Given the description of an element on the screen output the (x, y) to click on. 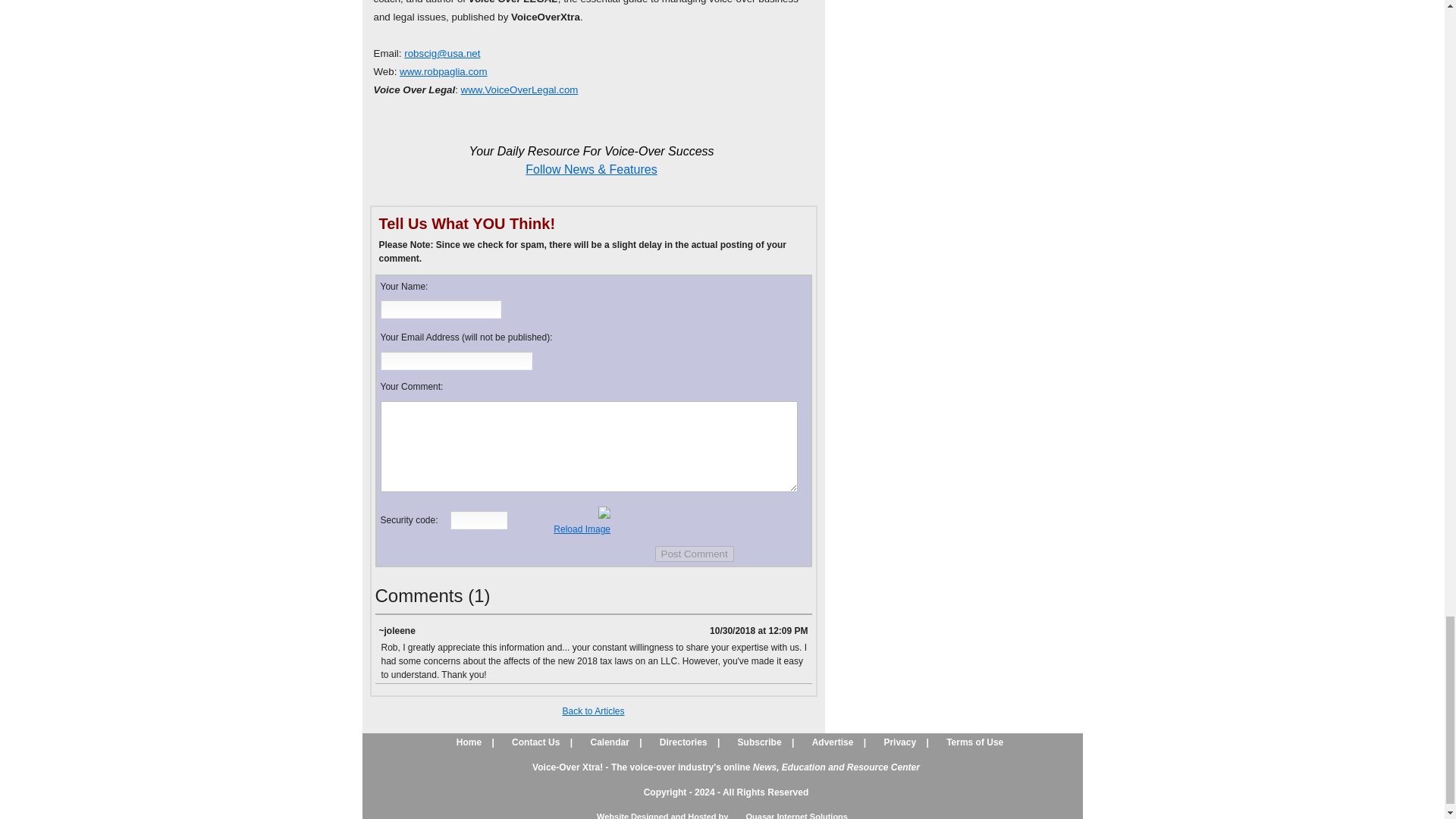
Reload Image (581, 529)
Post Comment (694, 553)
www.VoiceOverLegal.com (519, 89)
Back to Articles (593, 710)
www.robpaglia.com (442, 71)
Post Comment (694, 553)
